Given the description of an element on the screen output the (x, y) to click on. 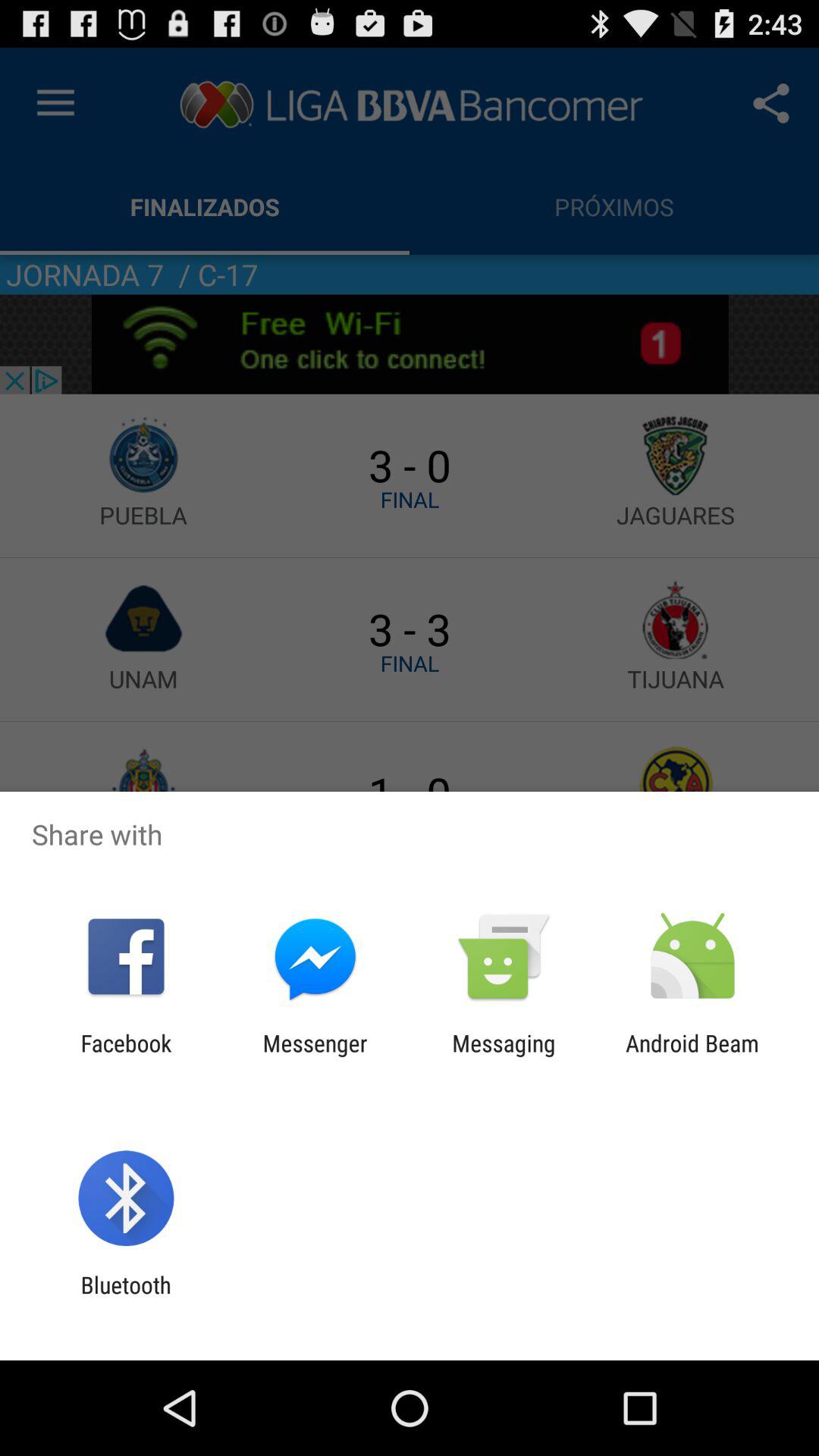
press item next to messenger item (125, 1056)
